Given the description of an element on the screen output the (x, y) to click on. 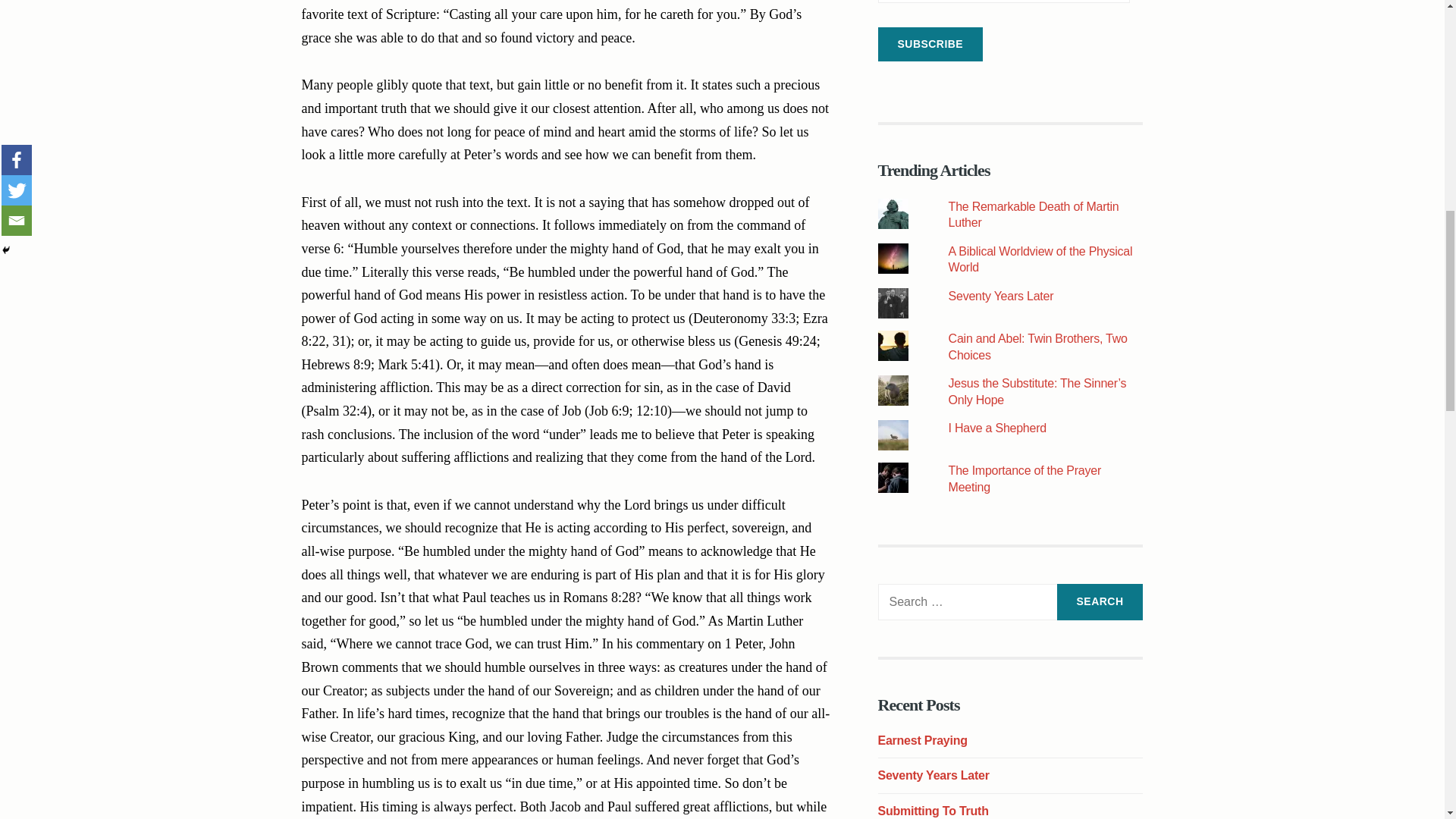
Seventy Years Later (1001, 295)
Cain and Abel: Twin Brothers, Two Choices (1037, 346)
Search (1099, 601)
The Remarkable Death of Martin Luther (1034, 214)
SUBSCRIBE (930, 44)
Seventy Years Later (1001, 295)
Search (1099, 601)
The Remarkable Death of Martin Luther (1034, 214)
Cain and Abel: Twin Brothers, Two Choices (1037, 346)
A Biblical Worldview of the Physical World (1040, 259)
